Given the description of an element on the screen output the (x, y) to click on. 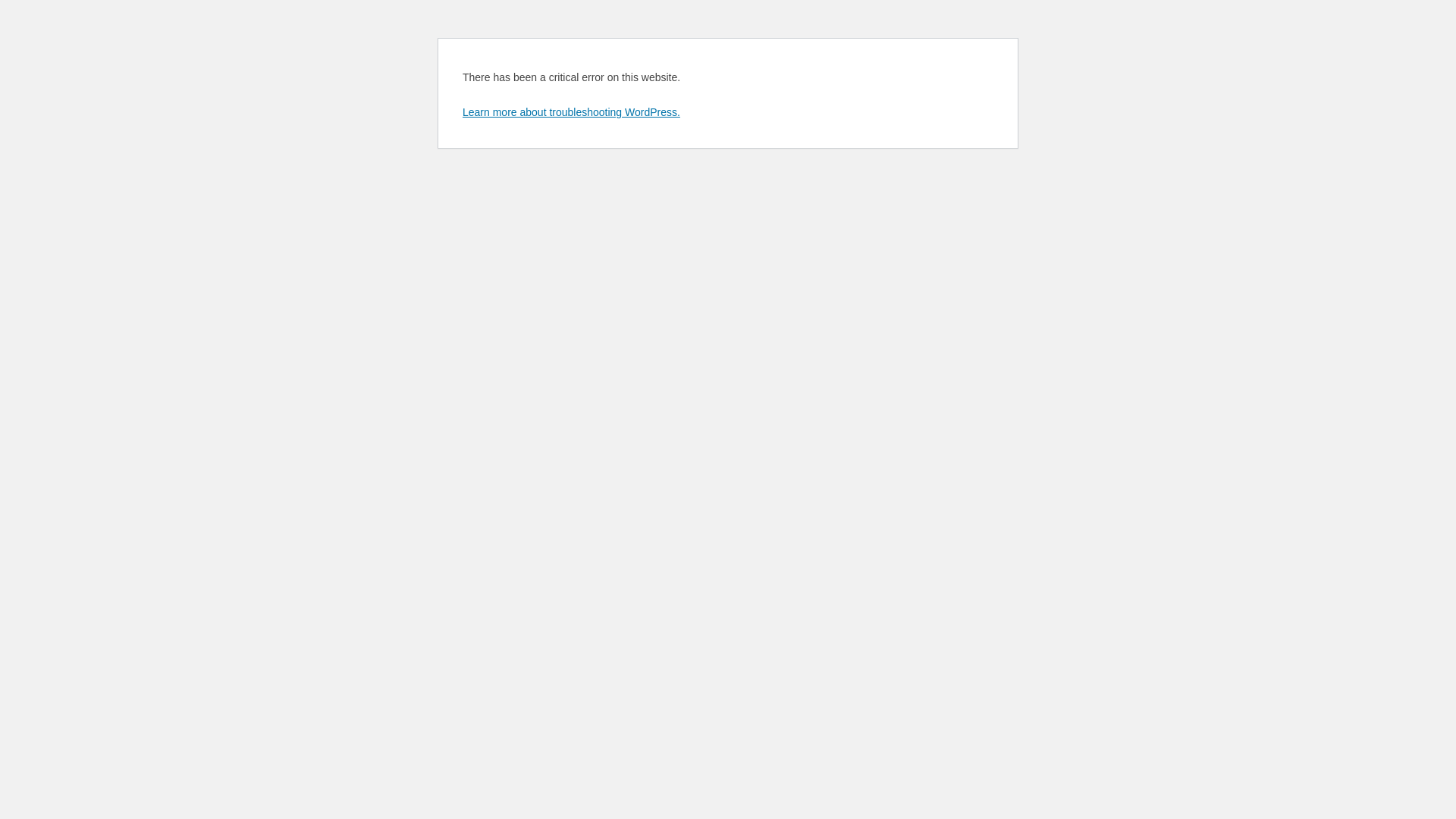
Learn more about troubleshooting WordPress. Element type: text (571, 112)
